Given the description of an element on the screen output the (x, y) to click on. 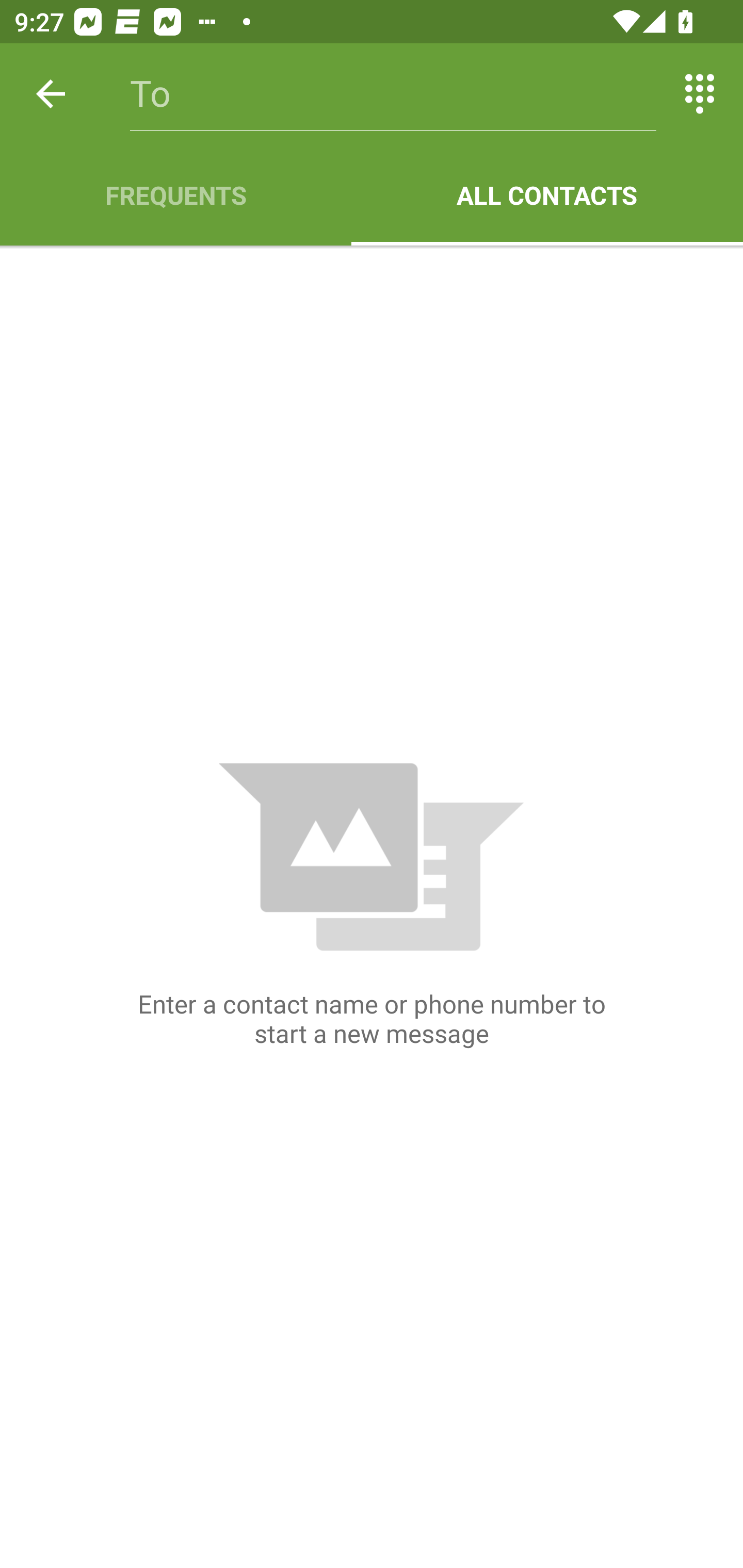
Back (50, 93)
Switch between entering text and numbers (699, 93)
To (393, 93)
FREQUENTS (175, 195)
ALL CONTACTS (547, 195)
